Given the description of an element on the screen output the (x, y) to click on. 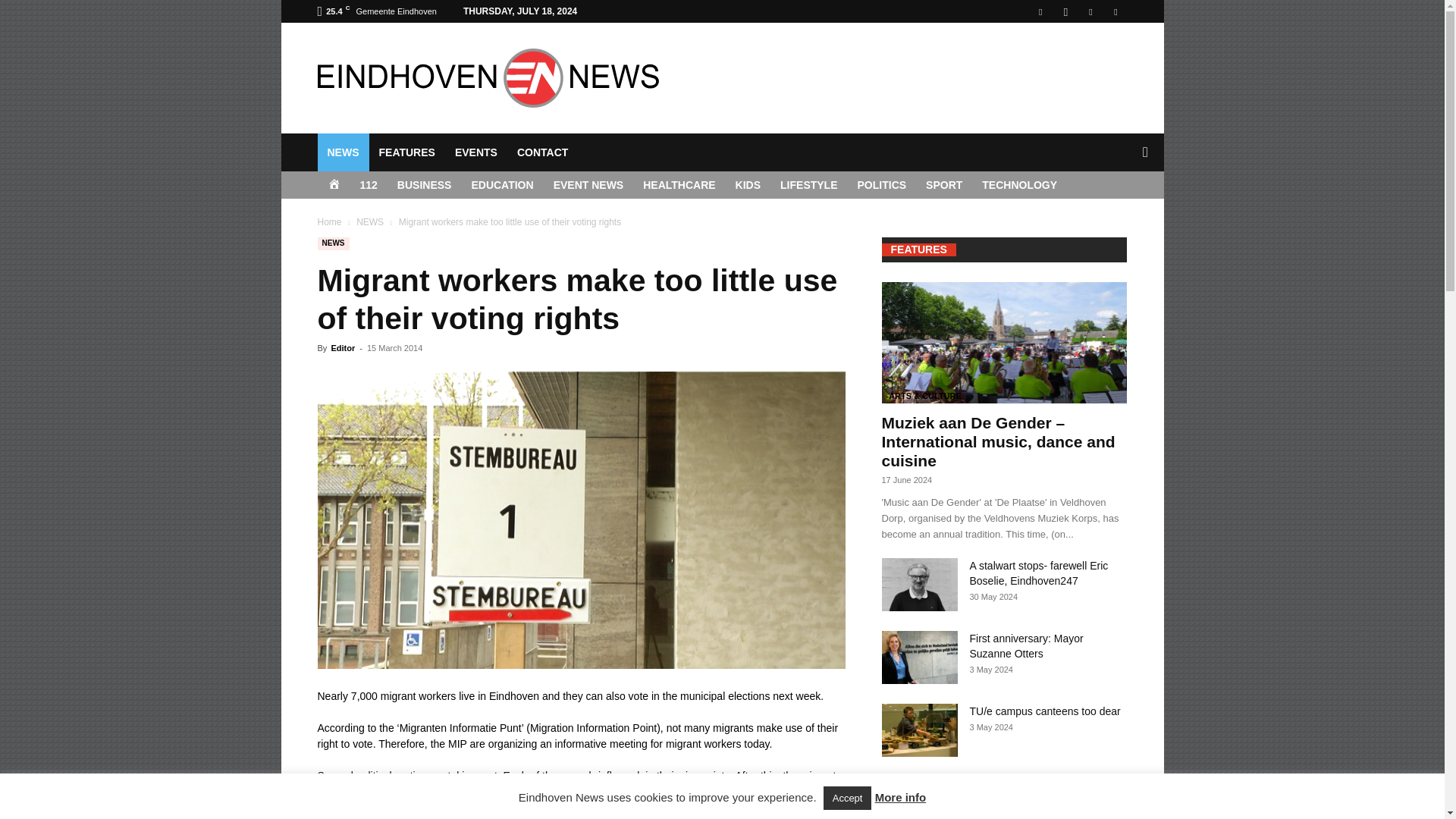
CONTACT (542, 152)
View all posts in NEWS (370, 222)
112 (368, 185)
BUSINESS (424, 185)
EVENT NEWS (588, 185)
Twitter (1114, 11)
EDUCATION (502, 185)
Instagram (1065, 11)
EVENTS (475, 152)
FEATURES (406, 152)
Linkedin (1090, 11)
HEALTHCARE (679, 185)
Facebook (1040, 11)
